Given the description of an element on the screen output the (x, y) to click on. 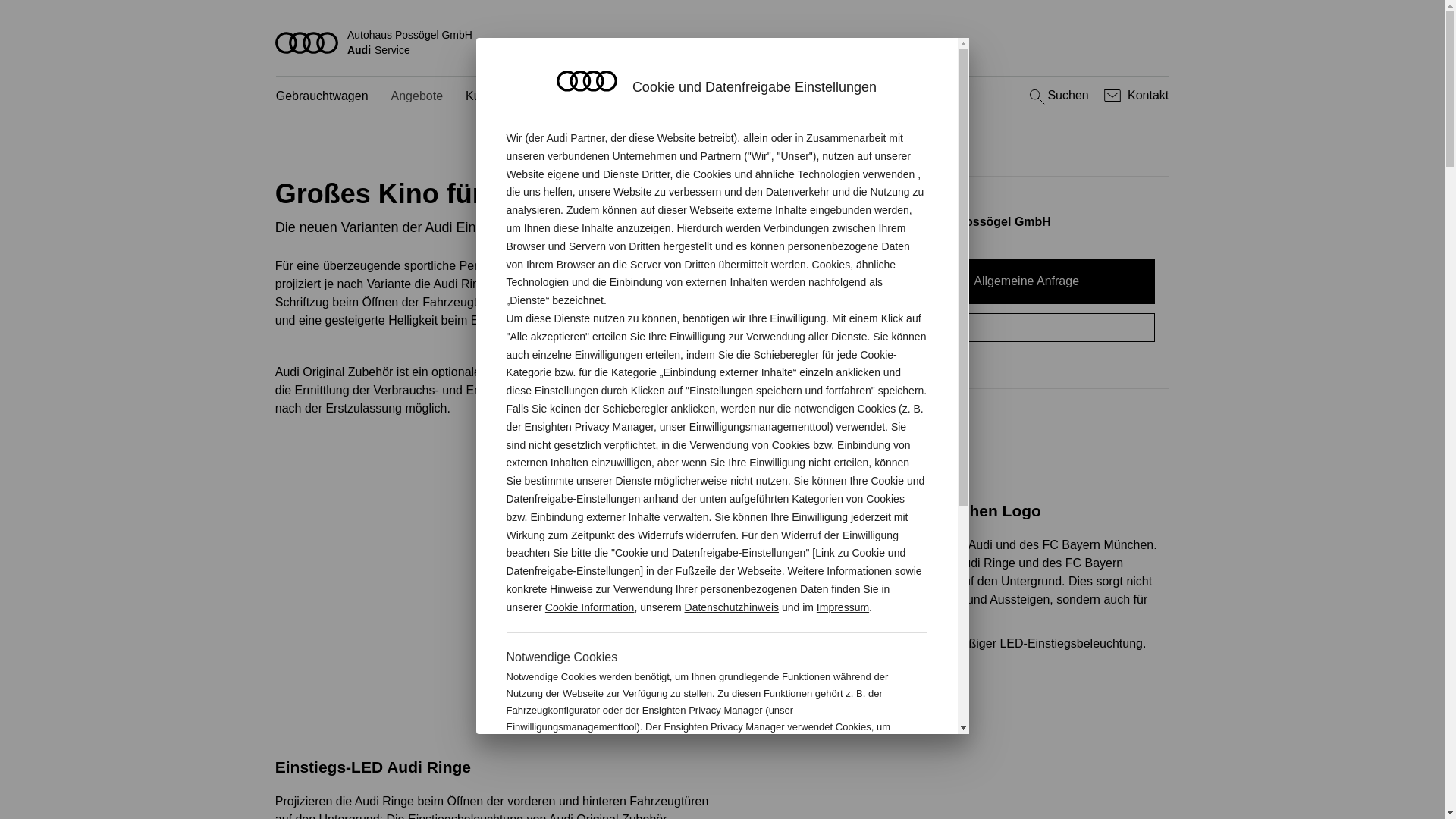
Gebrauchtwagen Element type: text (322, 96)
Kundenservice Element type: text (505, 96)
Datenschutzhinweis Element type: text (731, 607)
Impressum Element type: text (842, 607)
Allgemeine Anfrage Element type: text (1025, 281)
Audi Partner Element type: text (575, 137)
Angebote Element type: text (417, 96)
Cookie Information Element type: text (589, 607)
Cookie Information Element type: text (847, 776)
Kontakt Element type: text (1134, 95)
Suchen Element type: text (1056, 95)
